Given the description of an element on the screen output the (x, y) to click on. 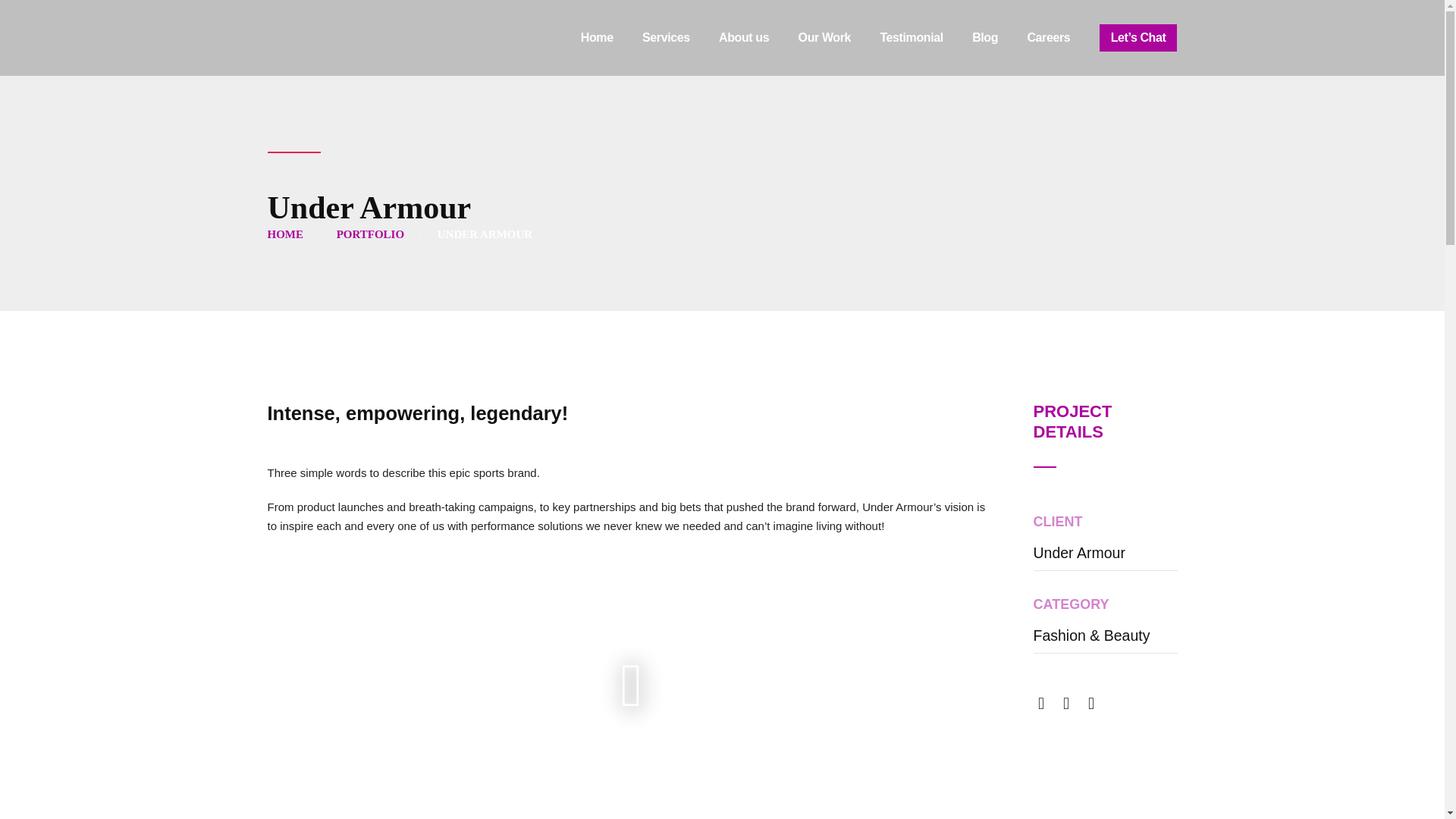
Home (596, 37)
Testimonial (910, 37)
Services (666, 37)
Careers (1048, 37)
Blog (984, 37)
PORTFOLIO (370, 234)
About us (743, 37)
HOME (284, 234)
Our Work (823, 37)
